Given the description of an element on the screen output the (x, y) to click on. 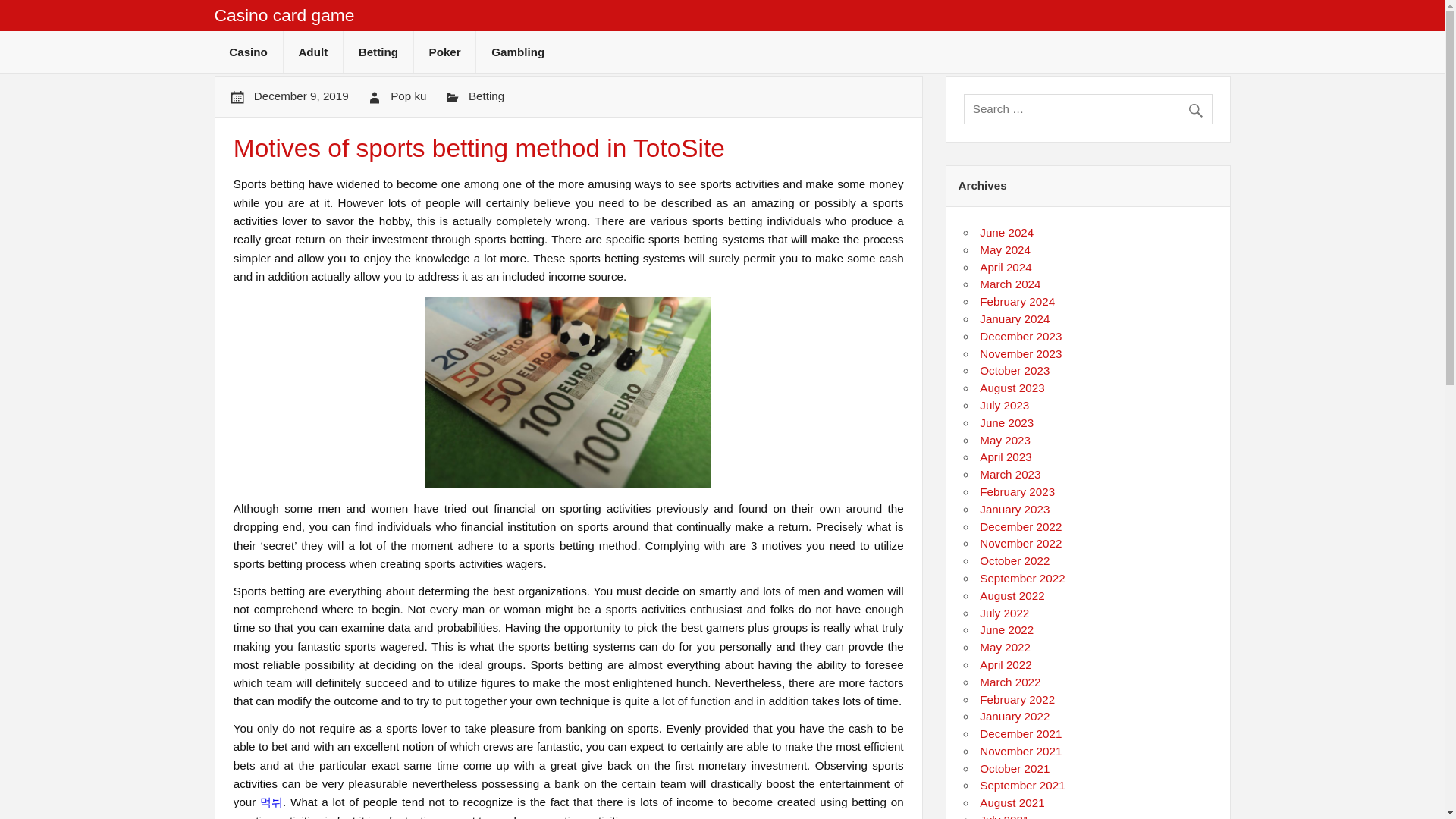
December 2023 (1020, 336)
April 2023 (1004, 456)
October 2023 (1014, 369)
April 2024 (1004, 267)
May 2022 (1004, 646)
Casino card game (283, 15)
Pop ku (408, 95)
View all posts by Pop ku (408, 95)
Casino card game (283, 15)
December 2022 (1020, 526)
December 9, 2019 (301, 95)
August 2022 (1011, 594)
July 2023 (1004, 404)
Betting (378, 51)
March 2024 (1010, 283)
